Given the description of an element on the screen output the (x, y) to click on. 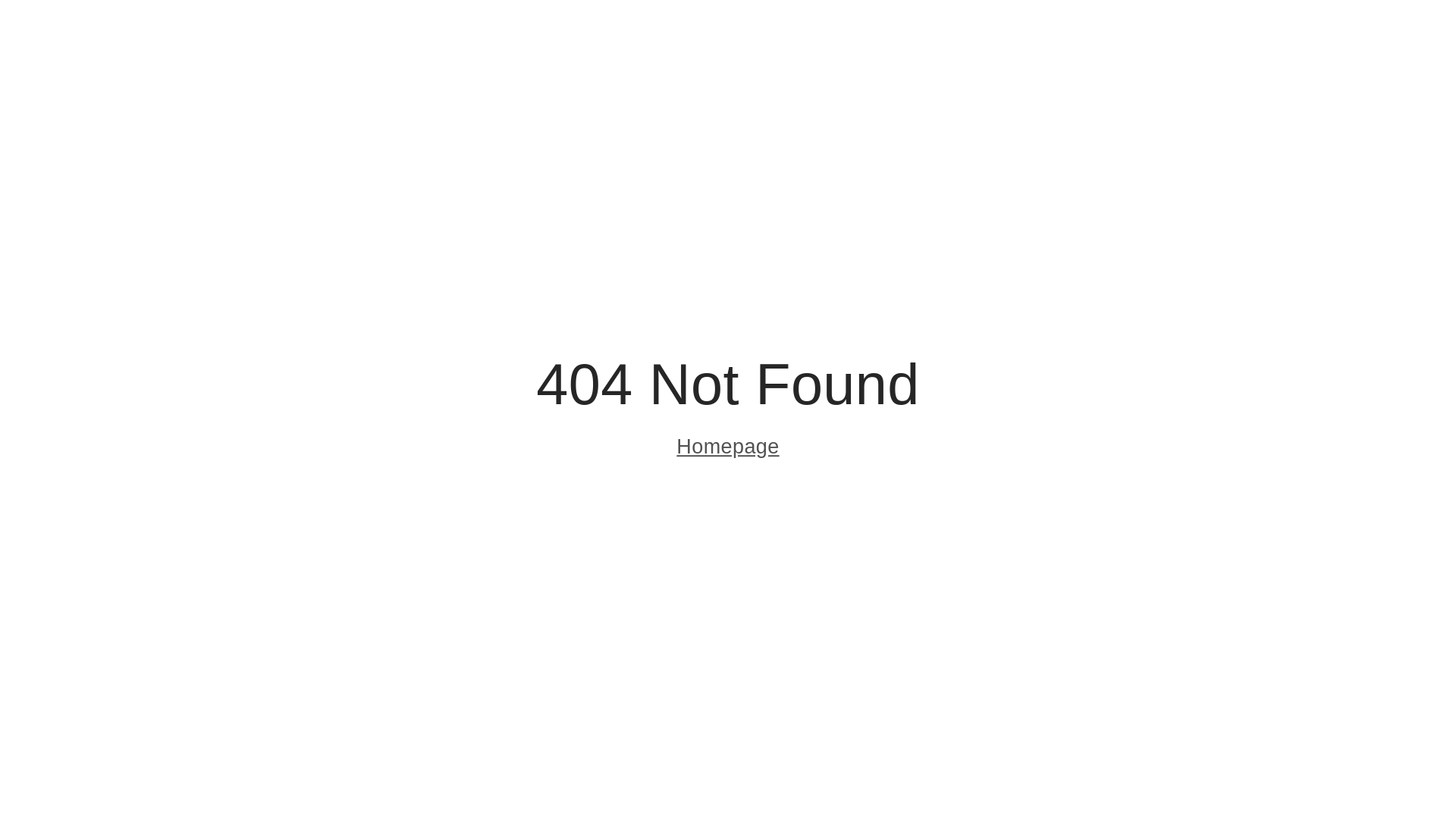
Homepage Element type: text (727, 448)
